Given the description of an element on the screen output the (x, y) to click on. 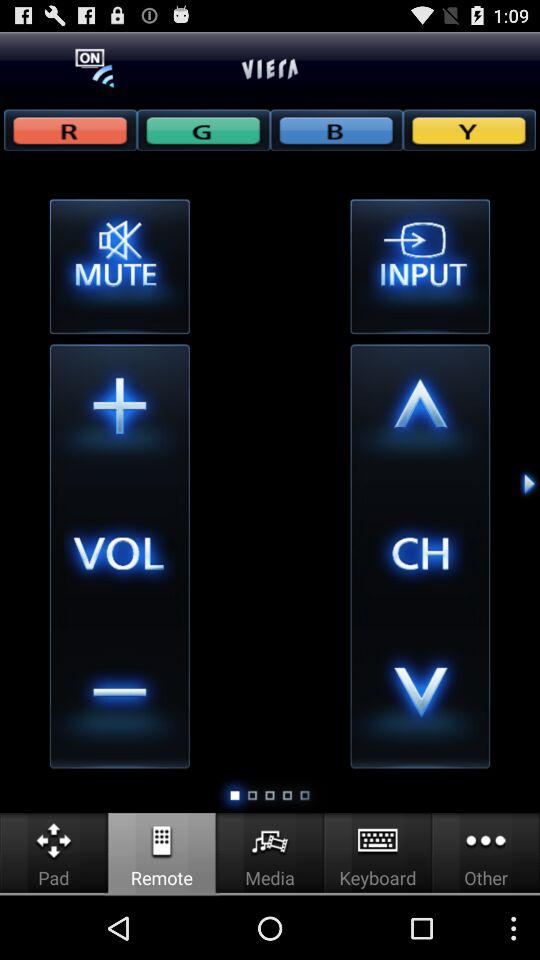
channel up (420, 414)
